Given the description of an element on the screen output the (x, y) to click on. 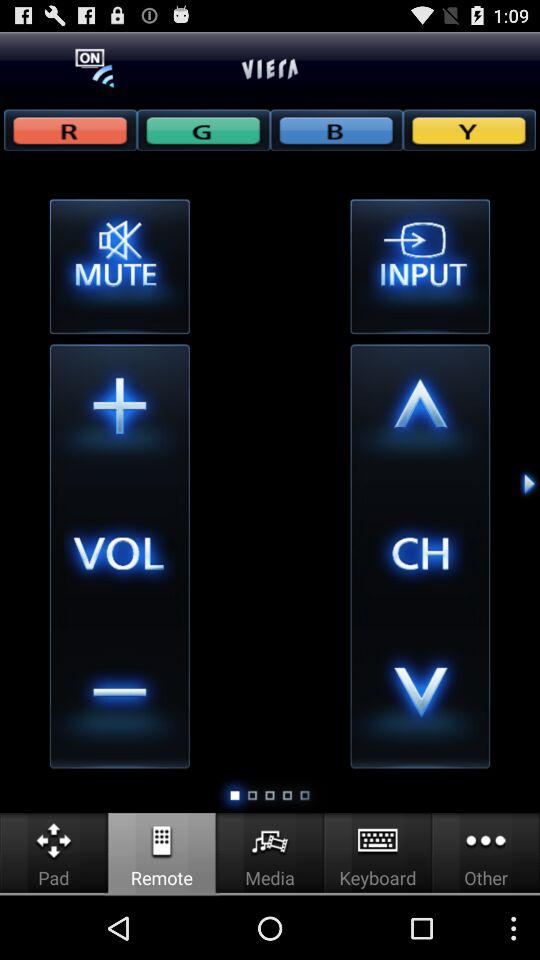
channel up (420, 414)
